Given the description of an element on the screen output the (x, y) to click on. 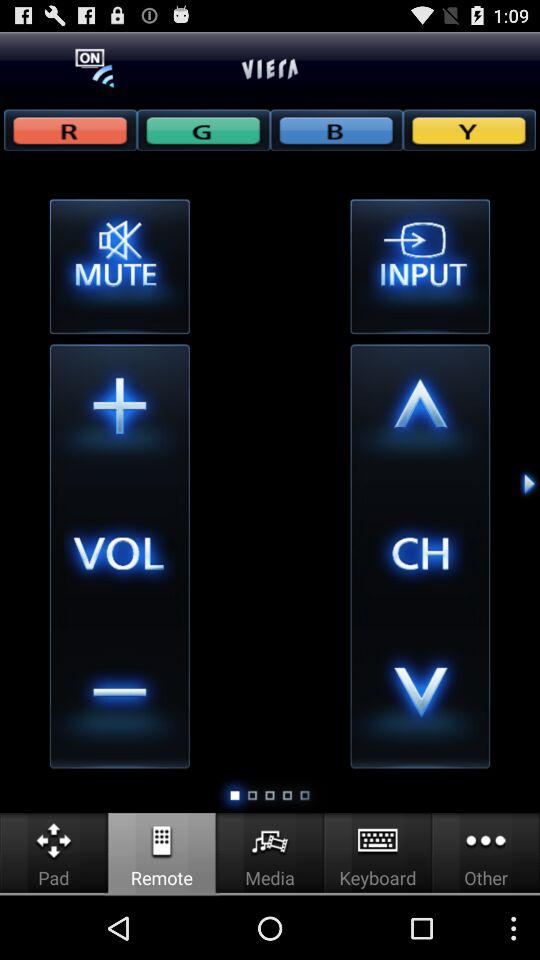
channel up (420, 414)
